Given the description of an element on the screen output the (x, y) to click on. 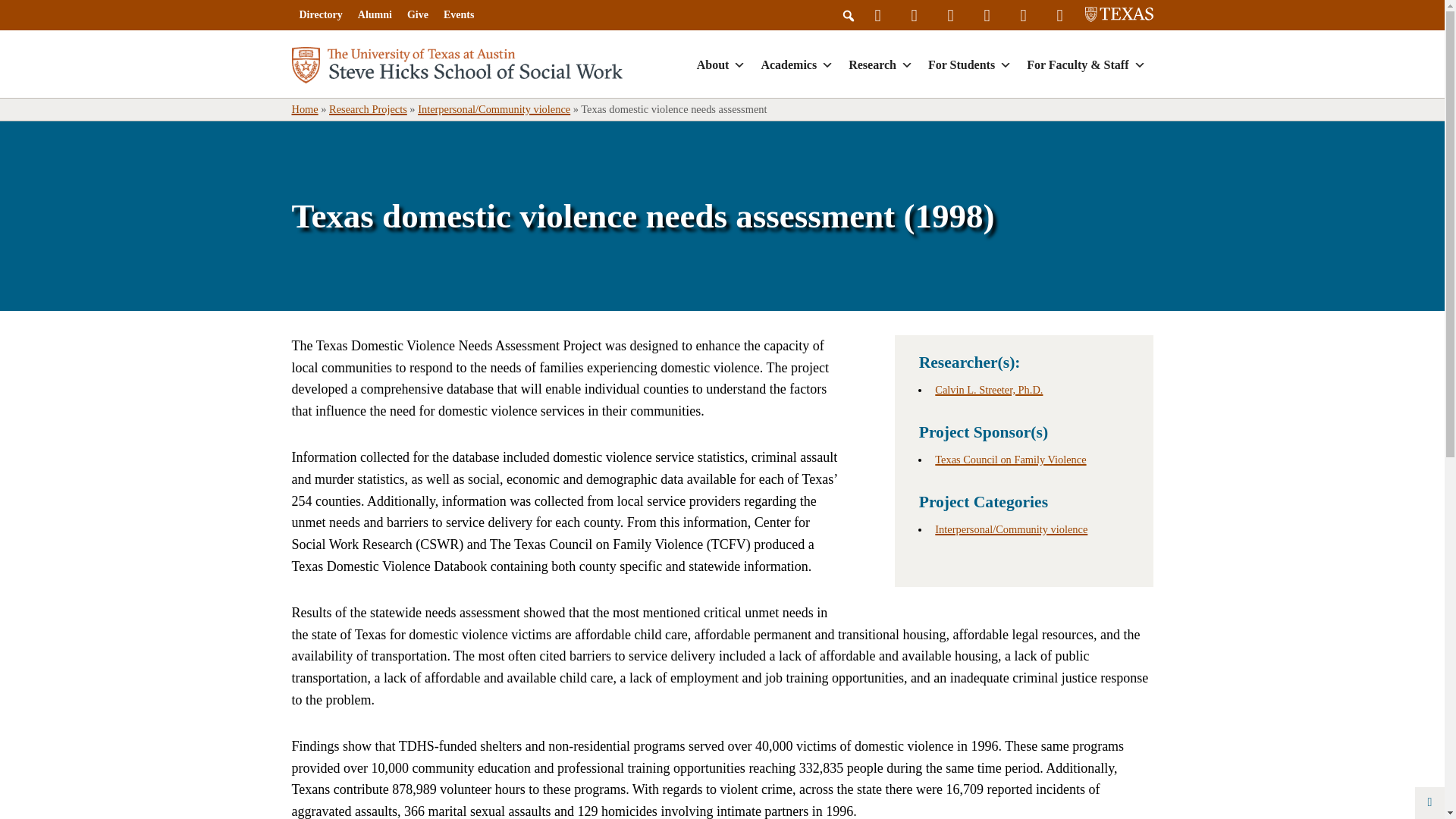
Events (458, 15)
Give (416, 15)
Search (11, 7)
About (721, 64)
Academics (796, 64)
Research (880, 64)
Alumni (374, 15)
Directory (320, 15)
